Given the description of an element on the screen output the (x, y) to click on. 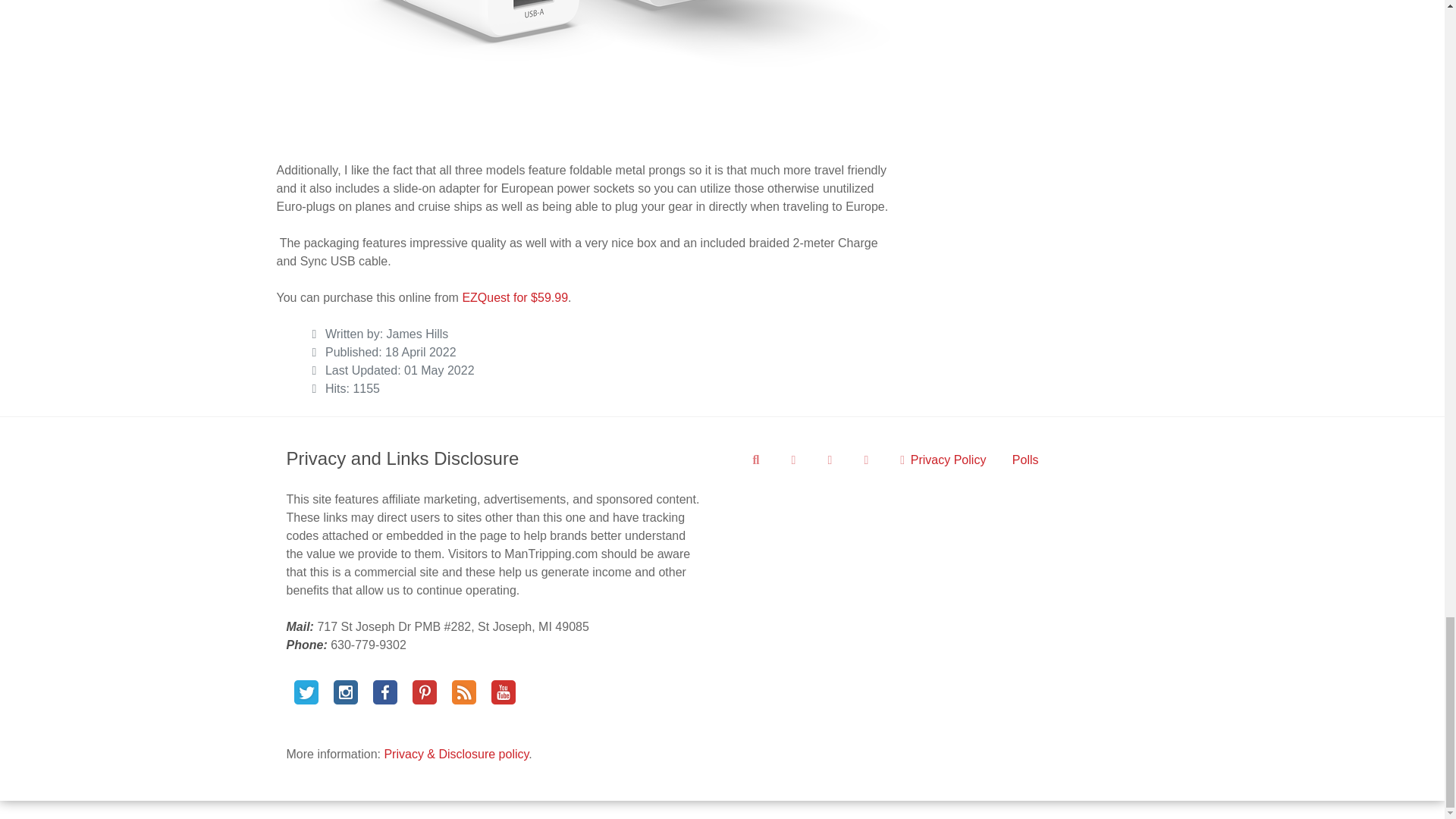
Privacy Policy (942, 459)
Polls (1025, 459)
Polls (1025, 459)
Privacy Policy (942, 459)
